Given the description of an element on the screen output the (x, y) to click on. 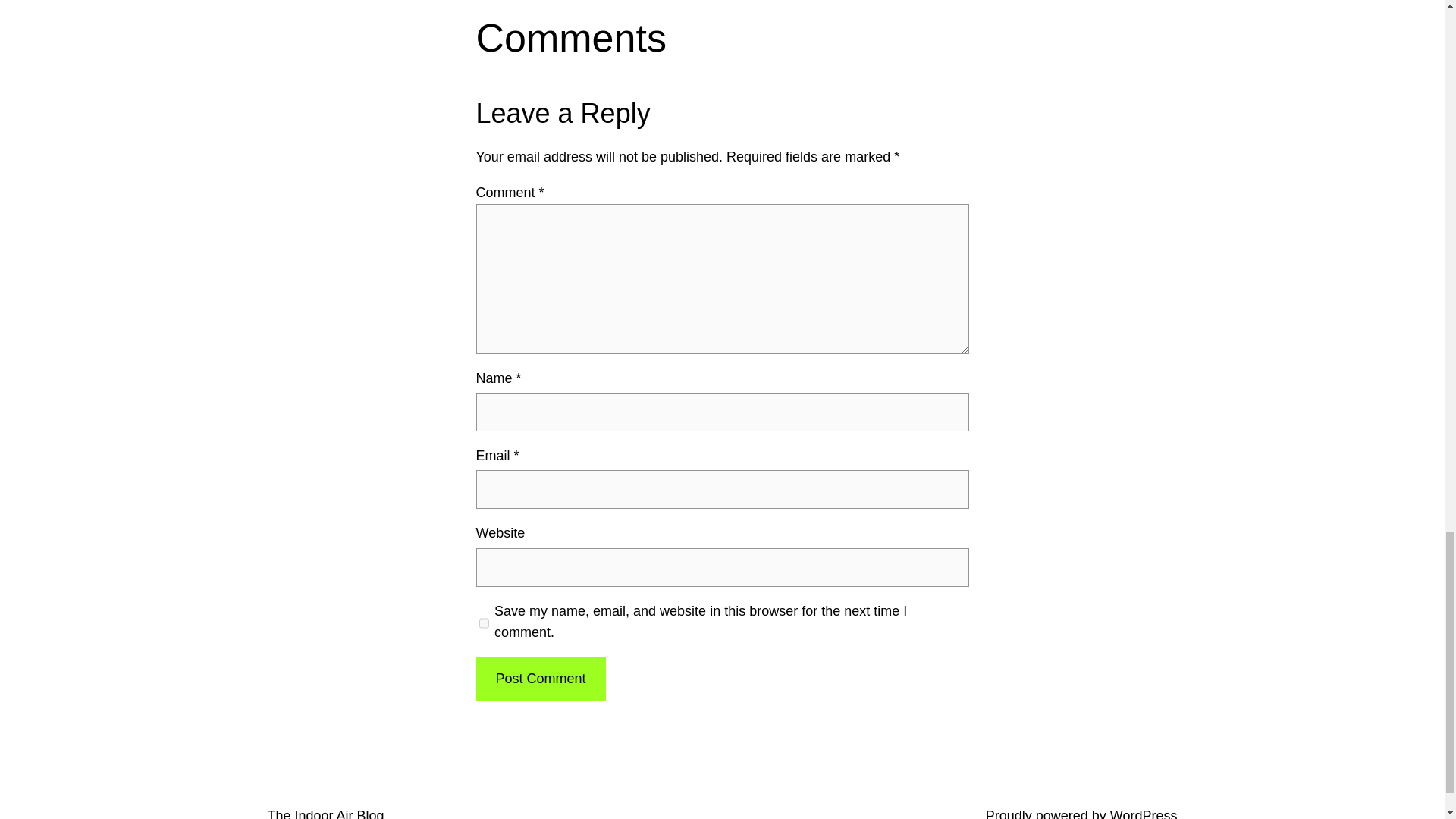
Post Comment (540, 679)
WordPress (1143, 813)
The Indoor Air Blog (325, 813)
Post Comment (540, 679)
